Given the description of an element on the screen output the (x, y) to click on. 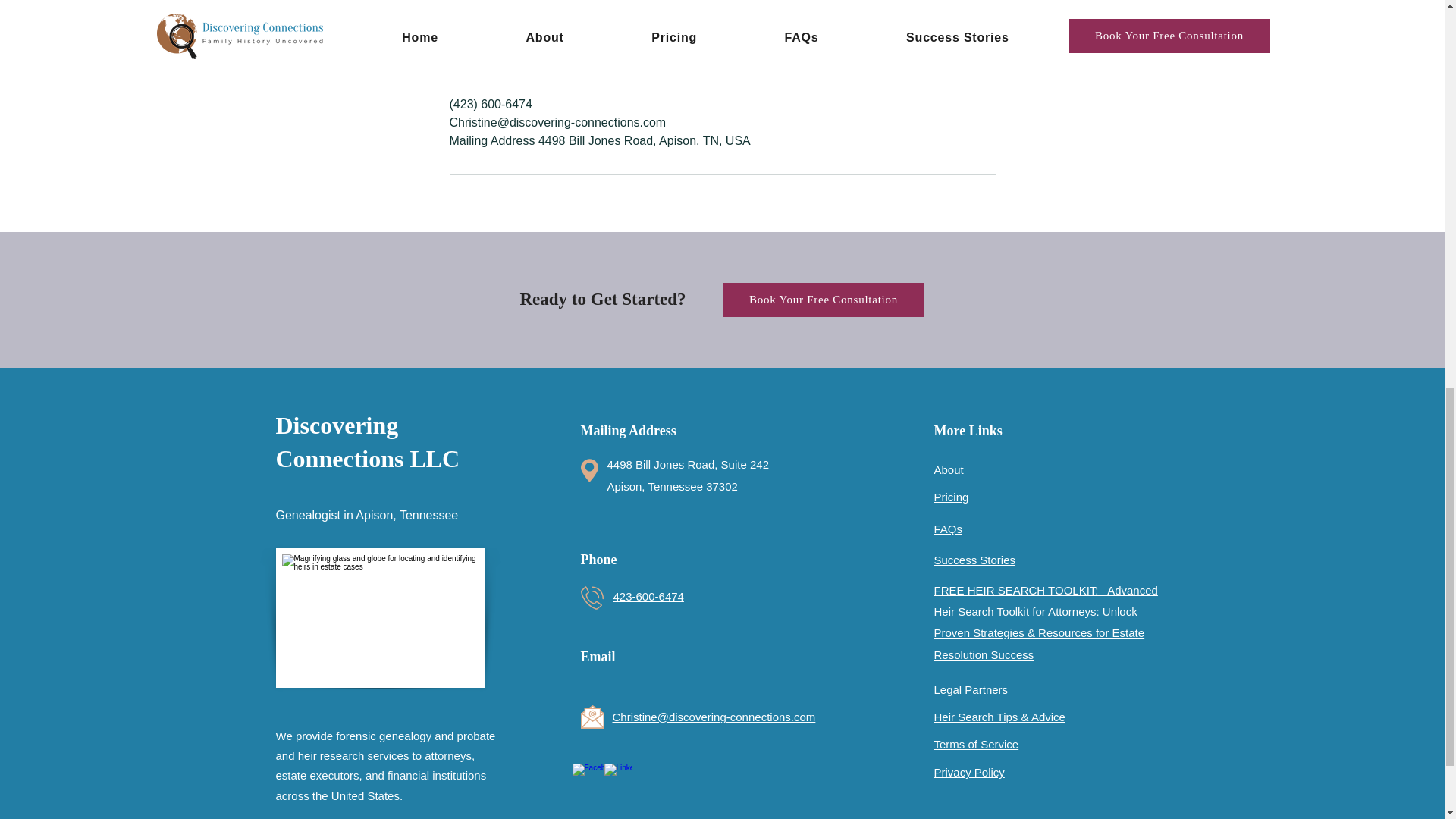
About (948, 469)
423-600-6474 (647, 595)
Pricing (951, 496)
Privacy Policy (969, 771)
Legal Partners (971, 689)
Terms of Service (976, 744)
Success Stories (975, 559)
FAQs (948, 528)
Book Your Free Consultation (823, 299)
